Given the description of an element on the screen output the (x, y) to click on. 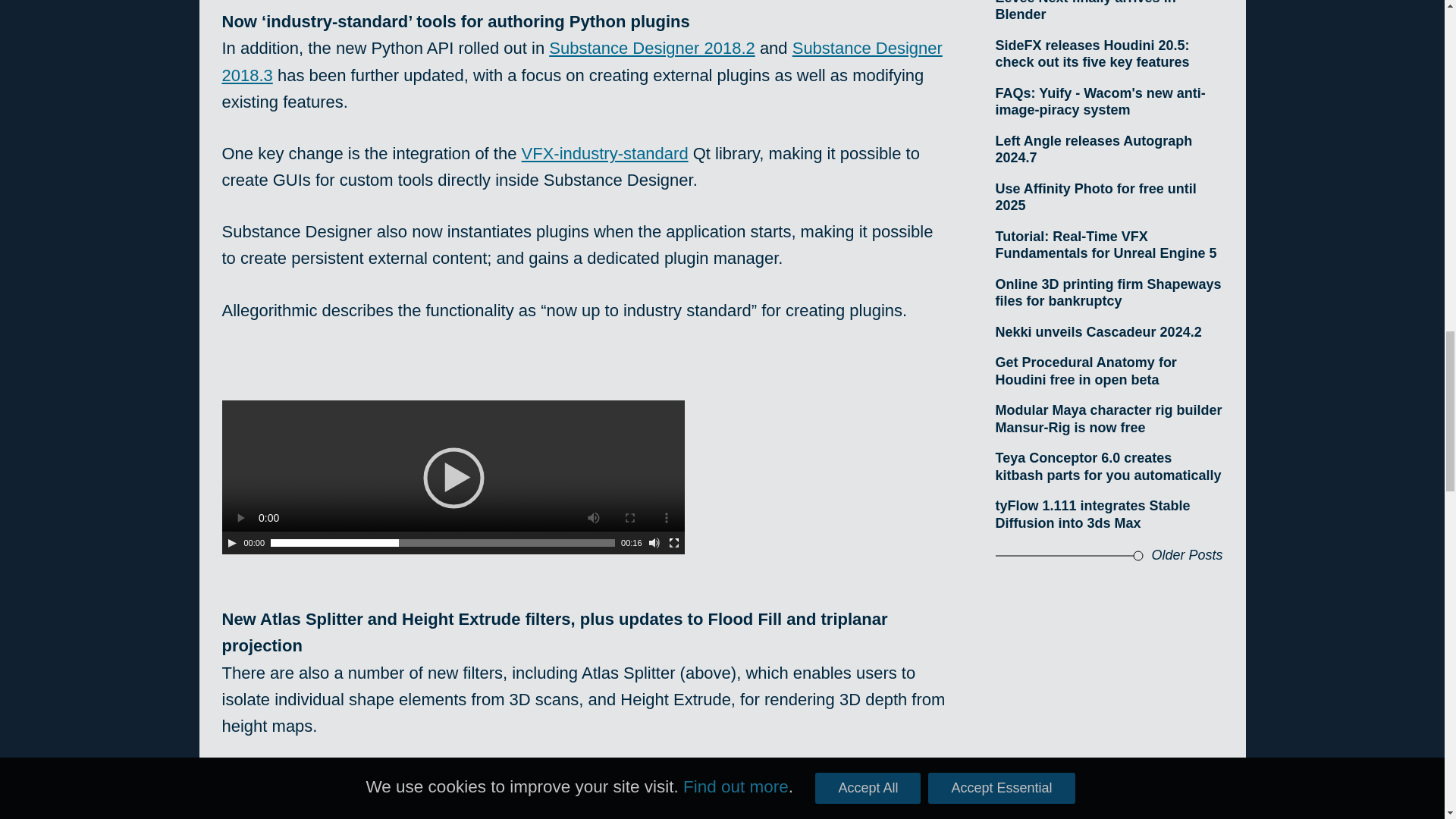
Play (231, 542)
Mute (654, 542)
Substance Designer 2018.3 (581, 61)
VFX-industry-standard (604, 153)
Fullscreen (673, 542)
Substance Designer 2017.2 (587, 777)
Substance Designer 2018.2 (651, 47)
